Given the description of an element on the screen output the (x, y) to click on. 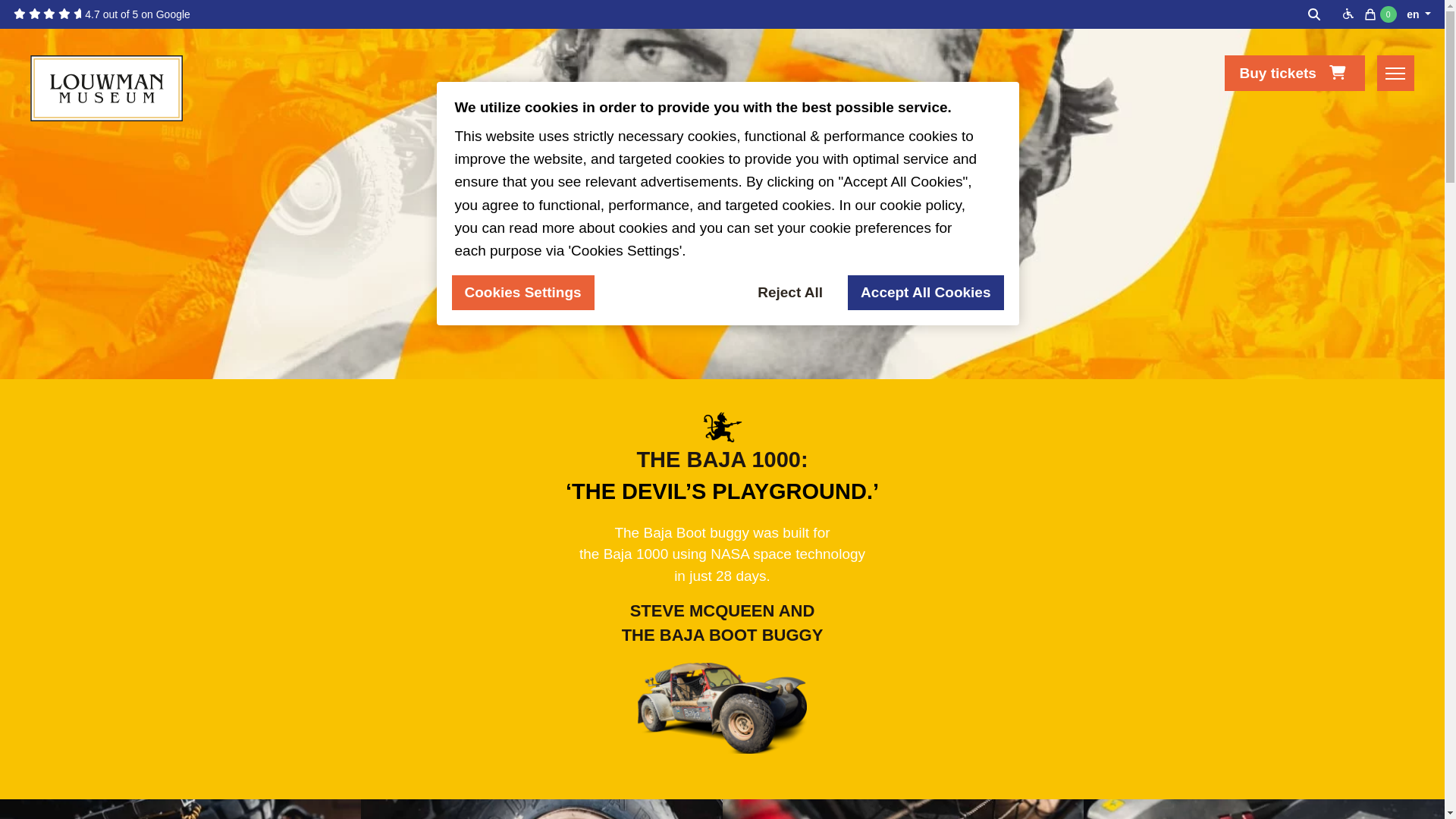
en (1418, 14)
Buy tickets (1294, 72)
4.7 out of 5 on Google (101, 14)
